Given the description of an element on the screen output the (x, y) to click on. 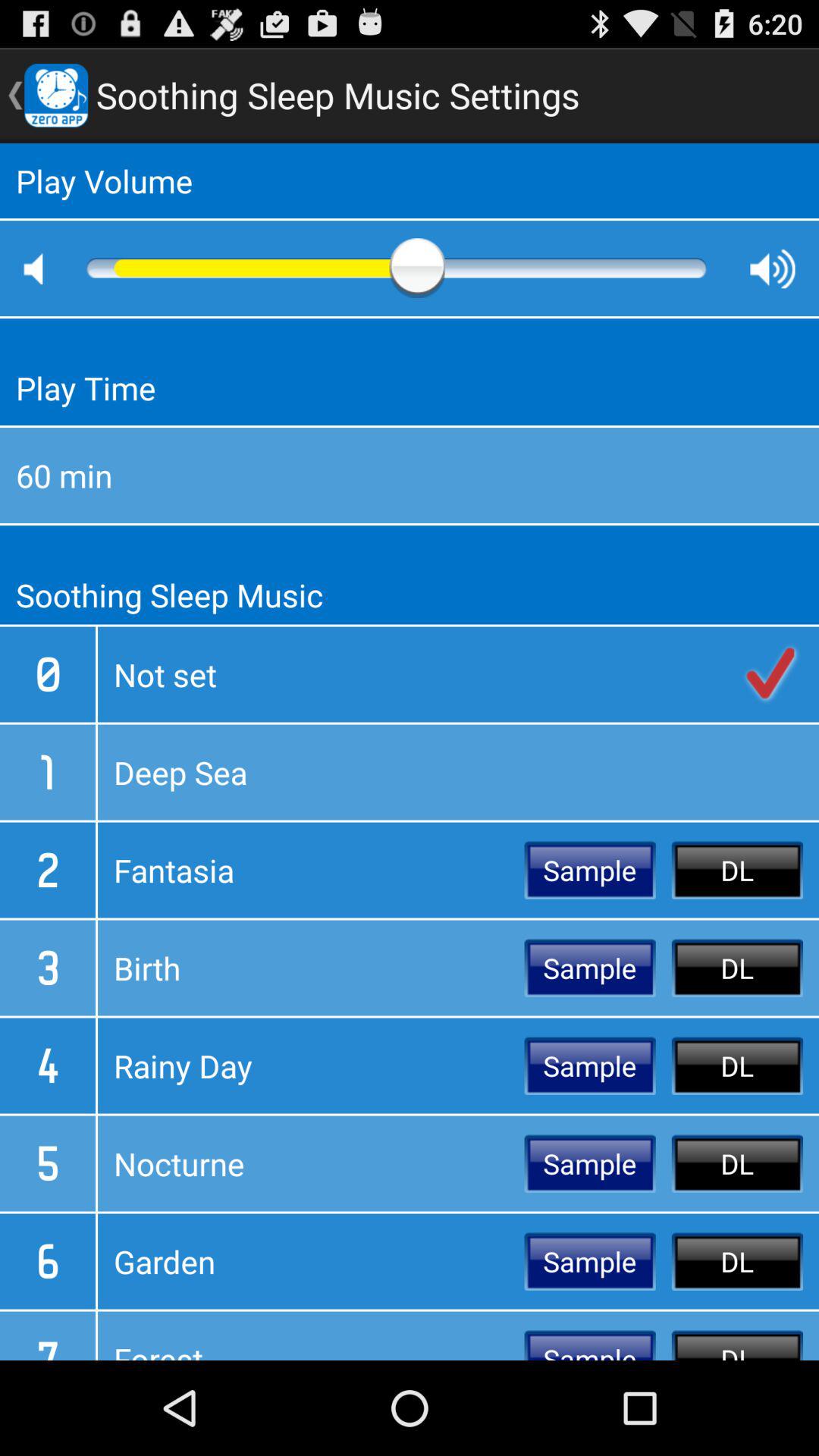
press fantasia item (310, 869)
